Given the description of an element on the screen output the (x, y) to click on. 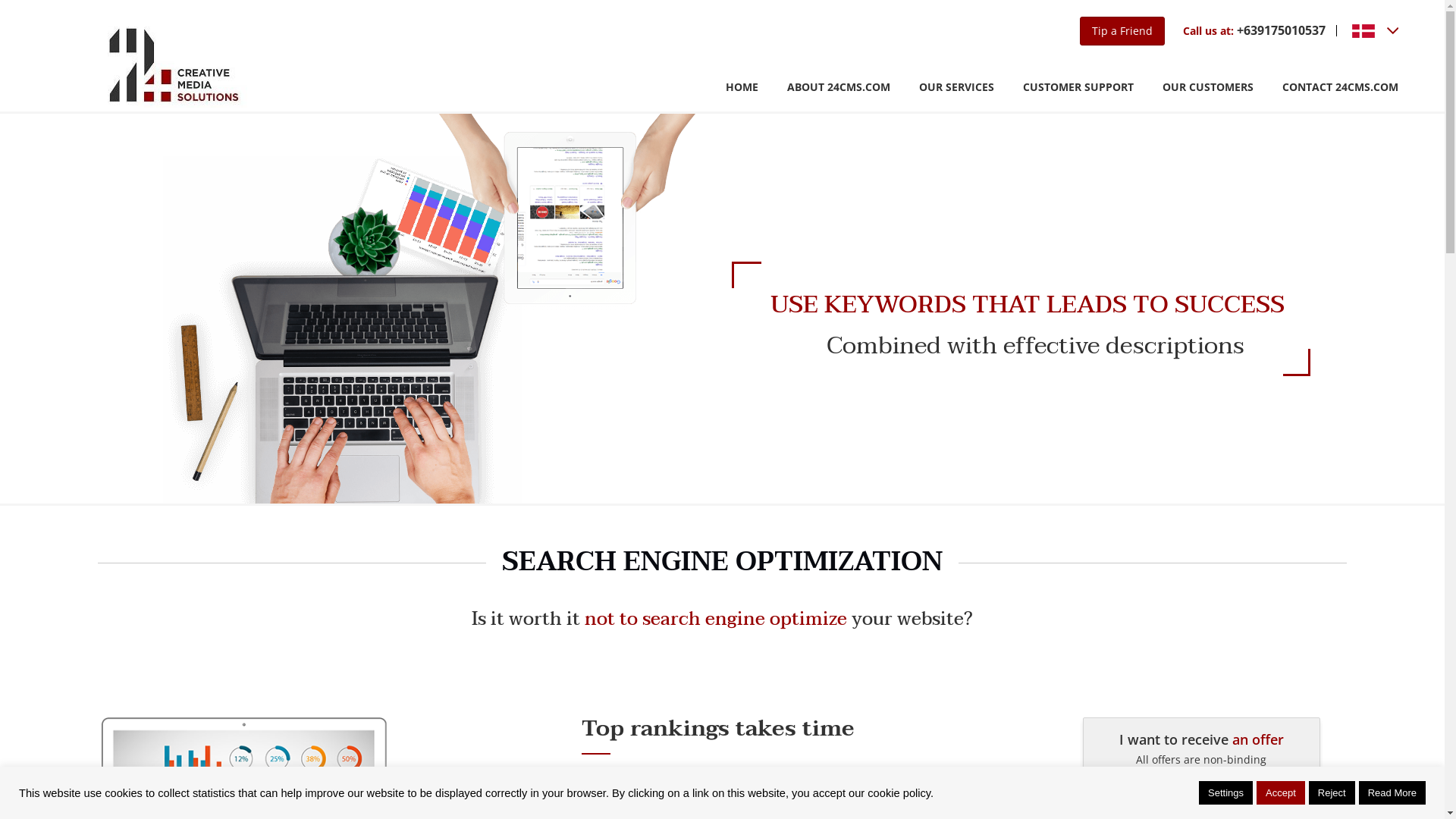
ABOUT 24CMS.COM Element type: text (838, 87)
HOME Element type: text (741, 87)
Danish Element type: hover (1363, 30)
Settings Element type: text (1225, 792)
Tip a Friend Element type: text (1121, 30)
OUR SERVICES Element type: text (956, 87)
+639175010537 Element type: text (1280, 29)
Read More Element type: text (1391, 792)
Reject Element type: text (1331, 792)
Accept Element type: text (1280, 792)
Google Element type: text (910, 786)
OUR CUSTOMERS Element type: text (1207, 87)
CUSTOMER SUPPORT Element type: text (1077, 87)
CONTACT 24CMS.COM Element type: text (1340, 87)
